Given the description of an element on the screen output the (x, y) to click on. 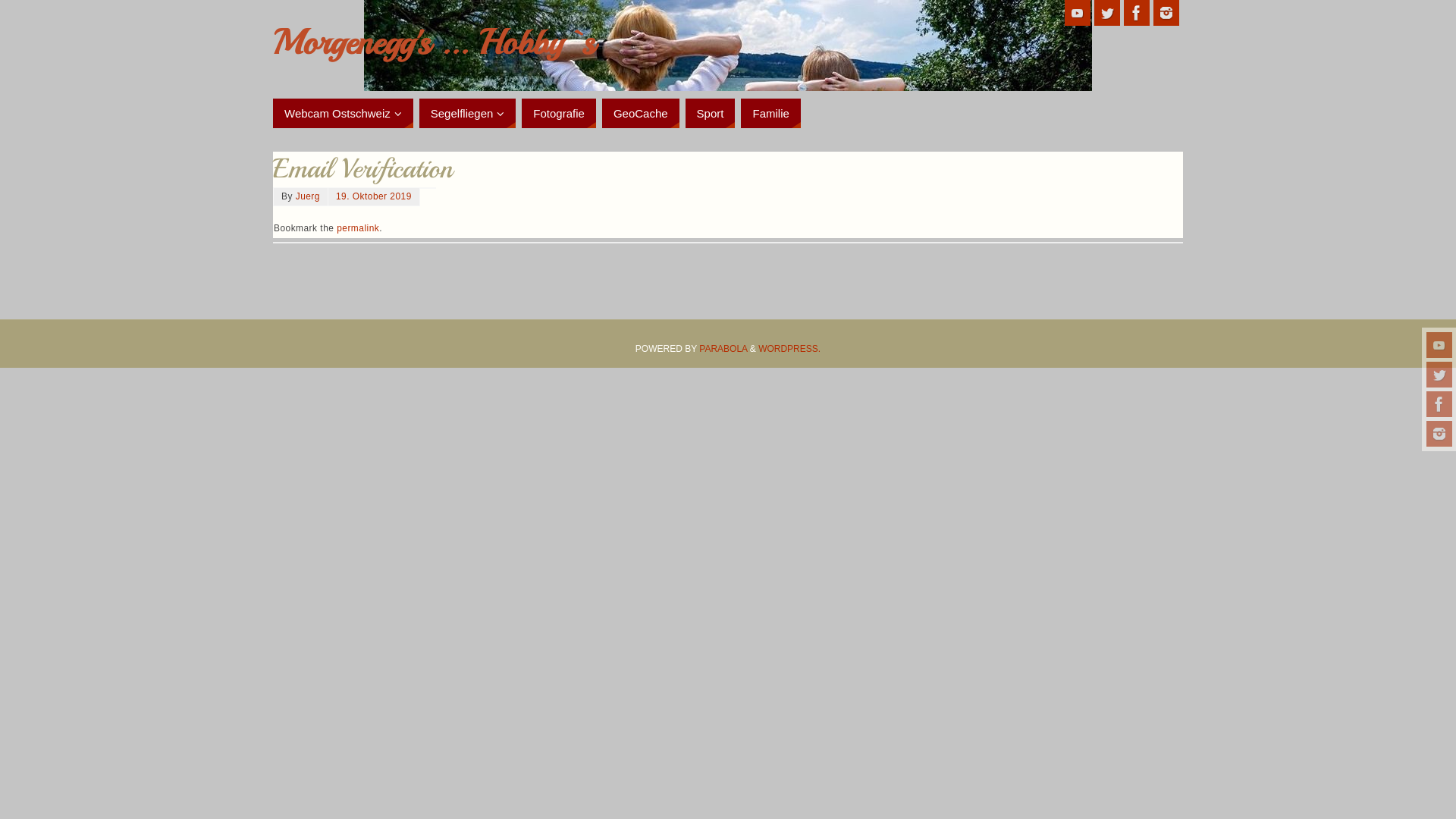
Sport Element type: text (710, 113)
Segelfliegen Element type: text (467, 113)
GeoCache Element type: text (640, 113)
Youtube Element type: hover (1439, 344)
Juerg Element type: text (307, 196)
Familie Element type: text (770, 113)
permalink Element type: text (357, 227)
Twitter Element type: hover (1439, 374)
Morgenegg's ... Hobby`s Element type: text (433, 42)
19. Oktober 2019 Element type: text (373, 196)
PARABOLA Element type: text (722, 348)
Instagramm Element type: hover (1166, 12)
WORDPRESS. Element type: text (789, 348)
Facebook Element type: hover (1136, 12)
Fotografie Element type: text (558, 113)
Webcam Ostschweiz Element type: text (343, 113)
Twitter Element type: hover (1107, 12)
Instagramm Element type: hover (1439, 433)
Youtube Element type: hover (1077, 12)
Facebook Element type: hover (1439, 404)
